Given the description of an element on the screen output the (x, y) to click on. 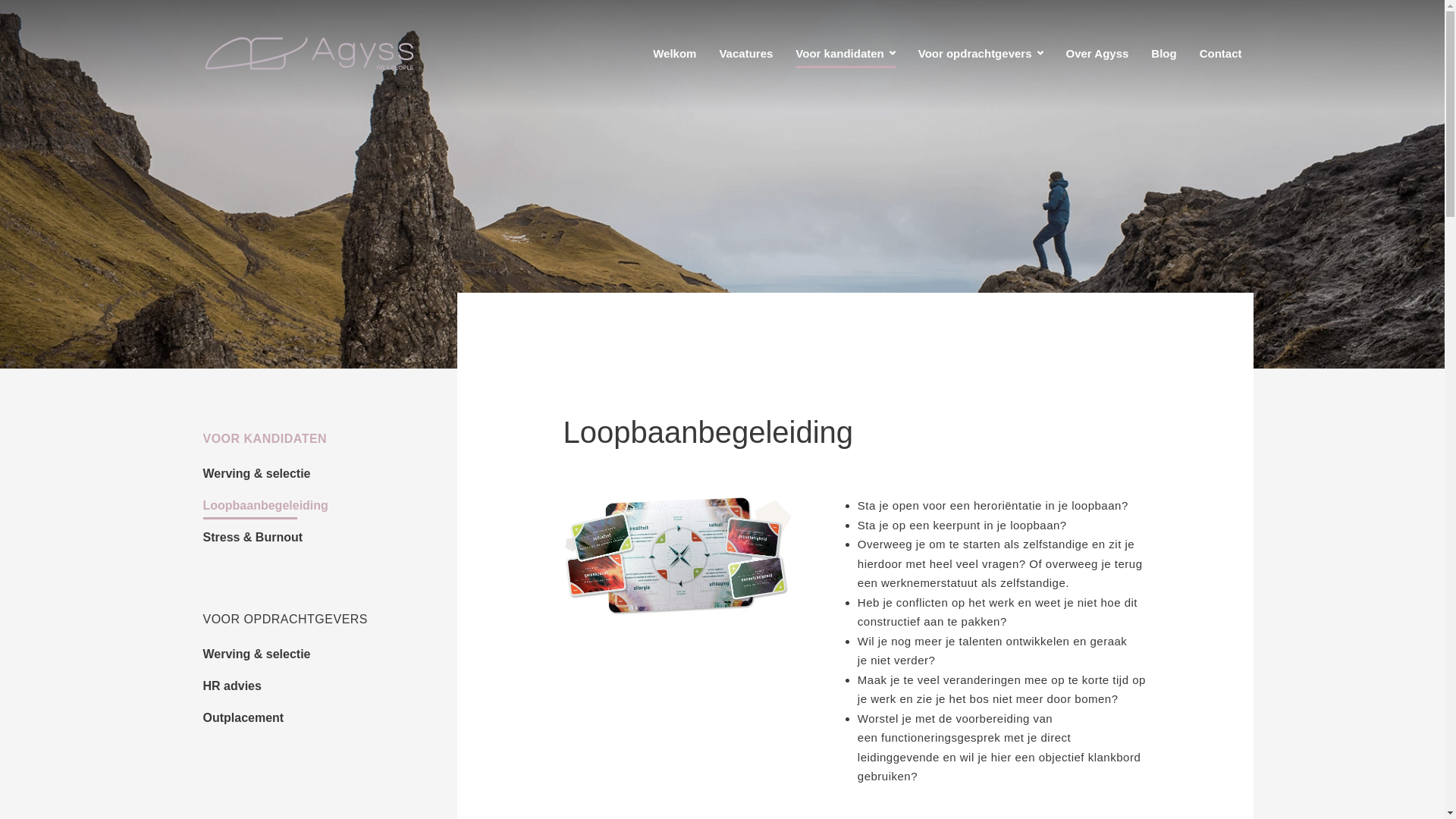
Welkom Element type: text (674, 53)
Over Agyss Element type: text (1097, 53)
Stress & Burnout Element type: text (253, 539)
Vacatures Element type: text (745, 53)
Voor kandidaten Element type: text (844, 53)
HR advies Element type: text (232, 688)
Voor opdrachtgevers Element type: text (980, 53)
Contact Element type: text (1220, 53)
Blog Element type: text (1163, 53)
Werving & selectie Element type: text (256, 475)
Werving & selectie Element type: text (256, 656)
Outplacement Element type: text (243, 720)
Loopbaanbegeleiding Element type: text (265, 507)
